Given the description of an element on the screen output the (x, y) to click on. 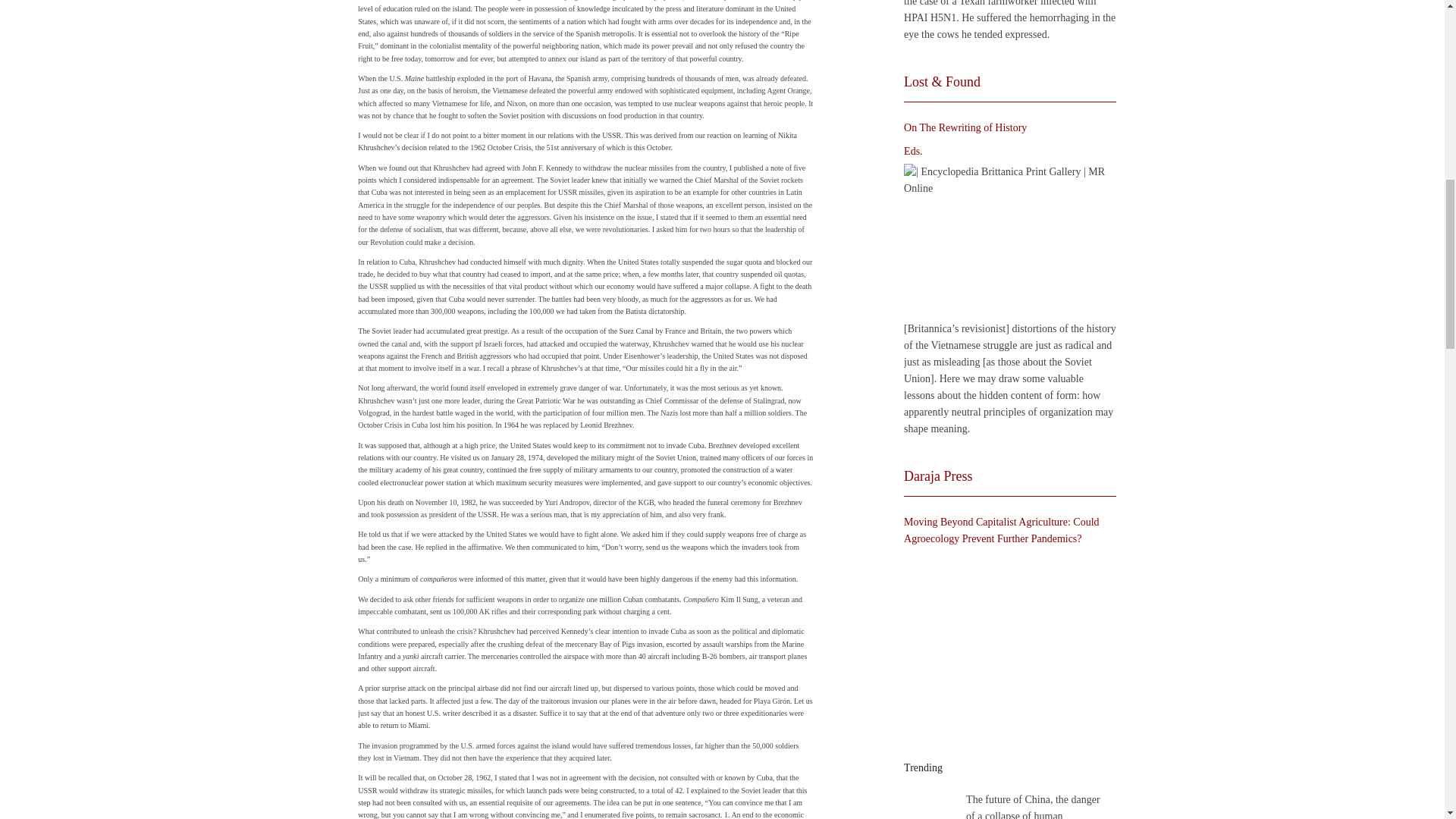
On The Rewriting of History (1006, 239)
Posts by Eds. (913, 151)
